Given the description of an element on the screen output the (x, y) to click on. 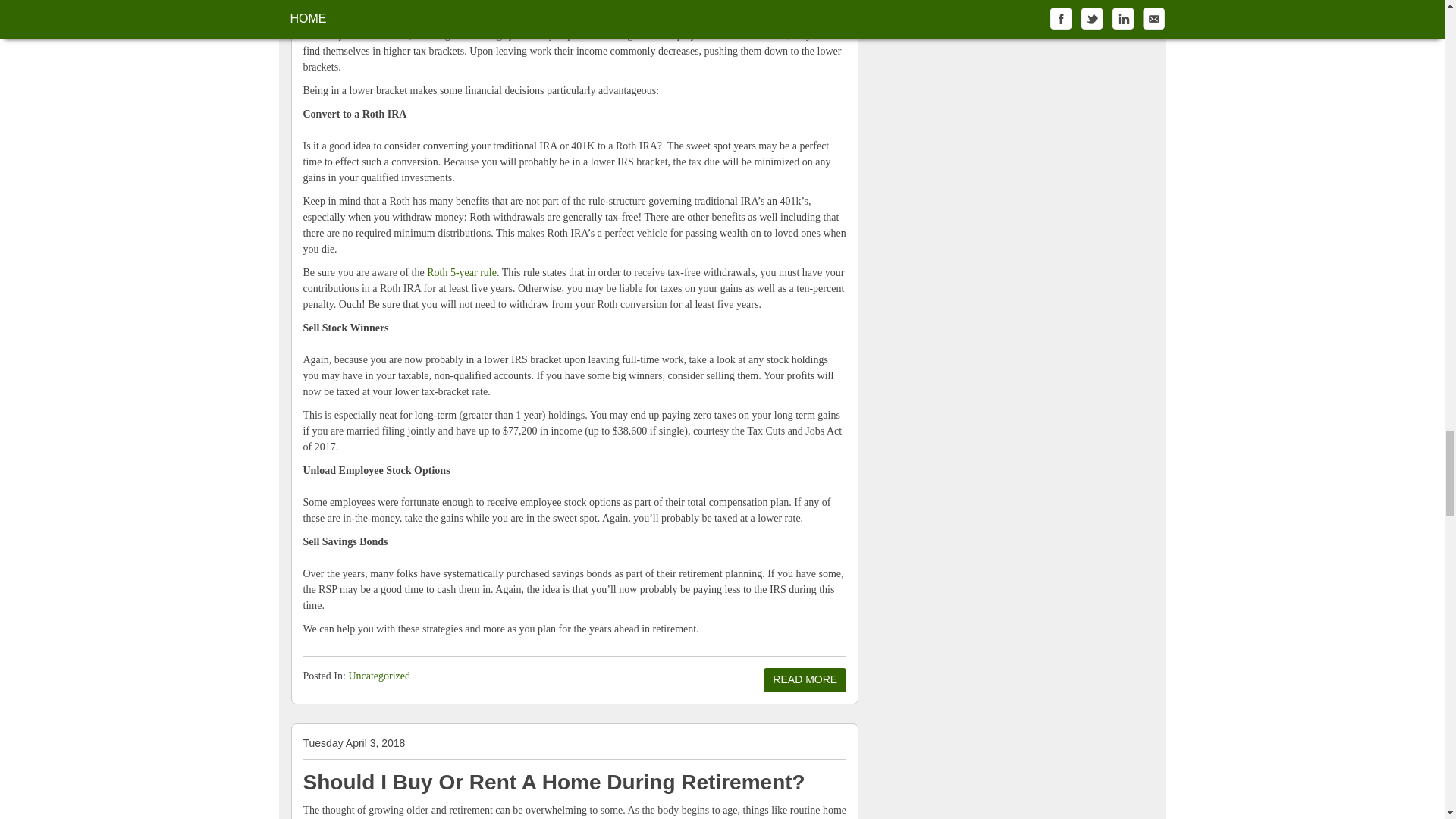
Roth 5-year rule (461, 272)
Uncategorized (378, 675)
READ MORE (803, 680)
View all posts in Uncategorized (378, 675)
Should I Buy Or Rent A Home During Retirement? (553, 781)
